Given the description of an element on the screen output the (x, y) to click on. 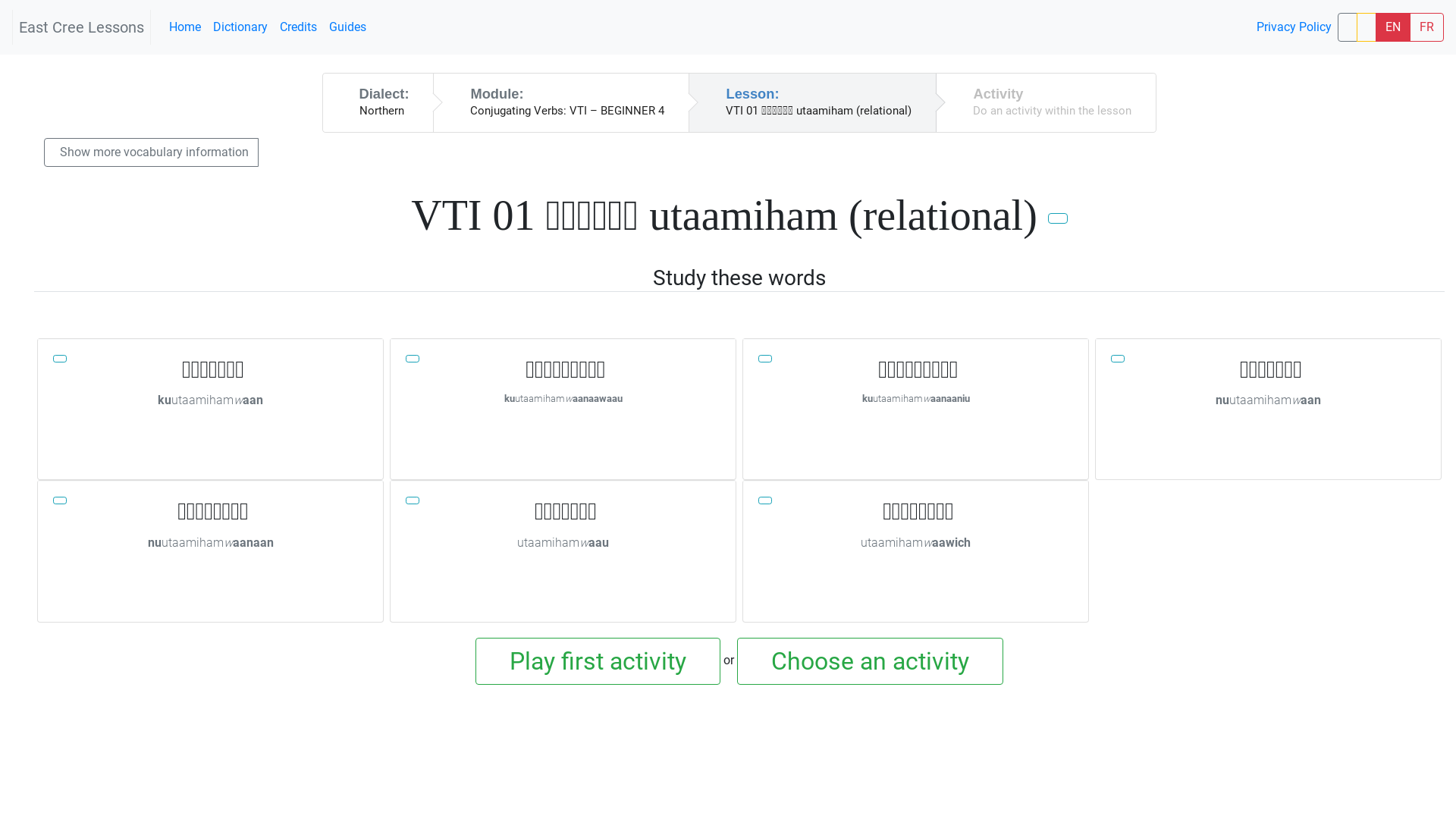
report a bug Element type: hover (1366, 26)
Dialect:
Northern Element type: text (378, 102)
Activity
Do an activity within the lesson Element type: text (1045, 102)
EN Element type: text (1392, 26)
Classrooms Element type: hover (1347, 26)
FR Element type: text (1426, 26)
Privacy Policy Element type: text (1293, 27)
Play first activity Element type: text (597, 660)
Choose an activity Element type: text (870, 660)
Guides Element type: text (347, 27)
Show more vocabulary information Element type: text (150, 152)
Credits Element type: text (298, 27)
Home Element type: text (185, 27)
Dictionary Element type: text (240, 27)
